Given the description of an element on the screen output the (x, y) to click on. 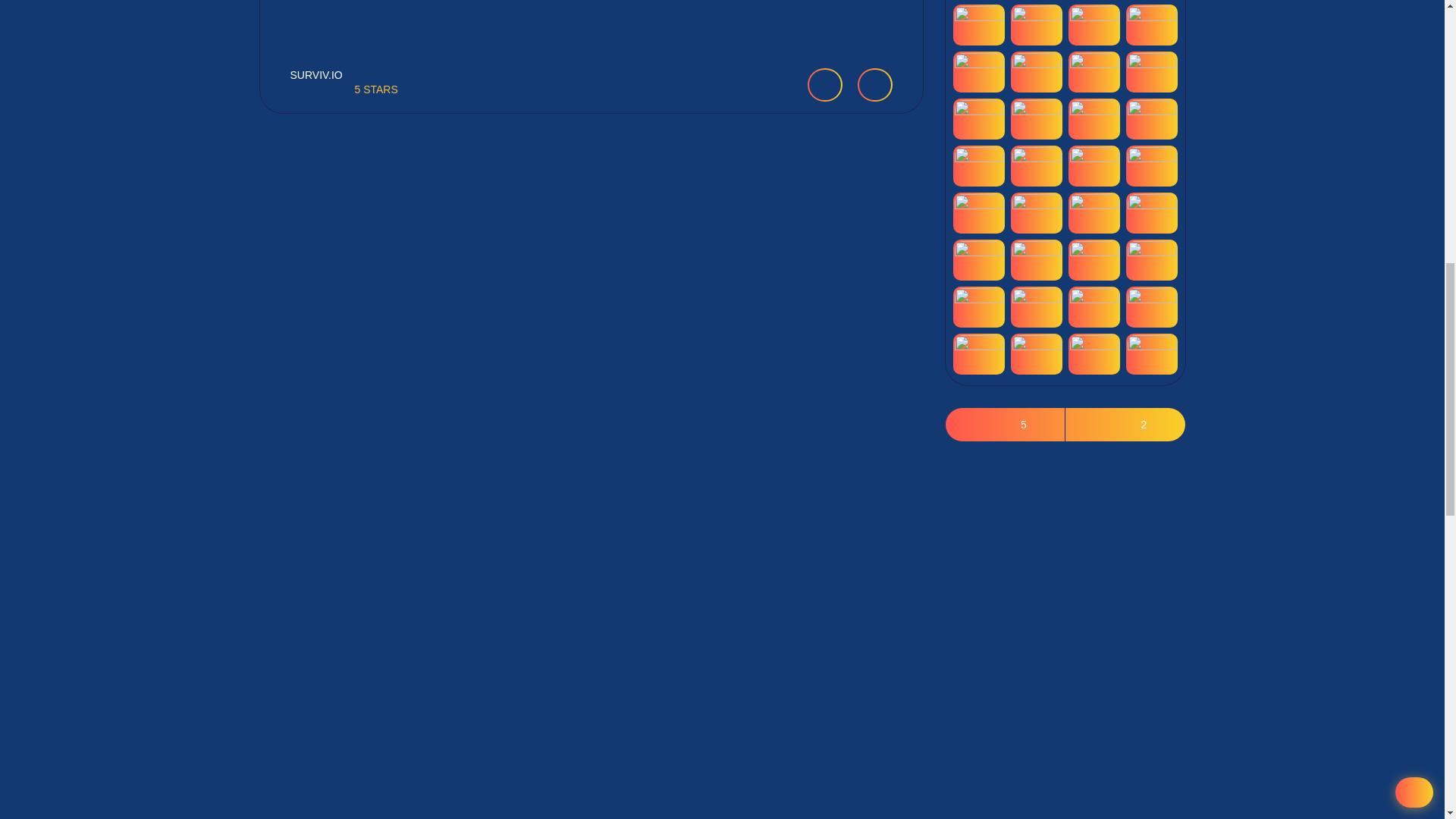
TO MY GAMES (823, 84)
Favorites (823, 84)
FULLSCREEN (874, 84)
Fullscreen (874, 84)
